Given the description of an element on the screen output the (x, y) to click on. 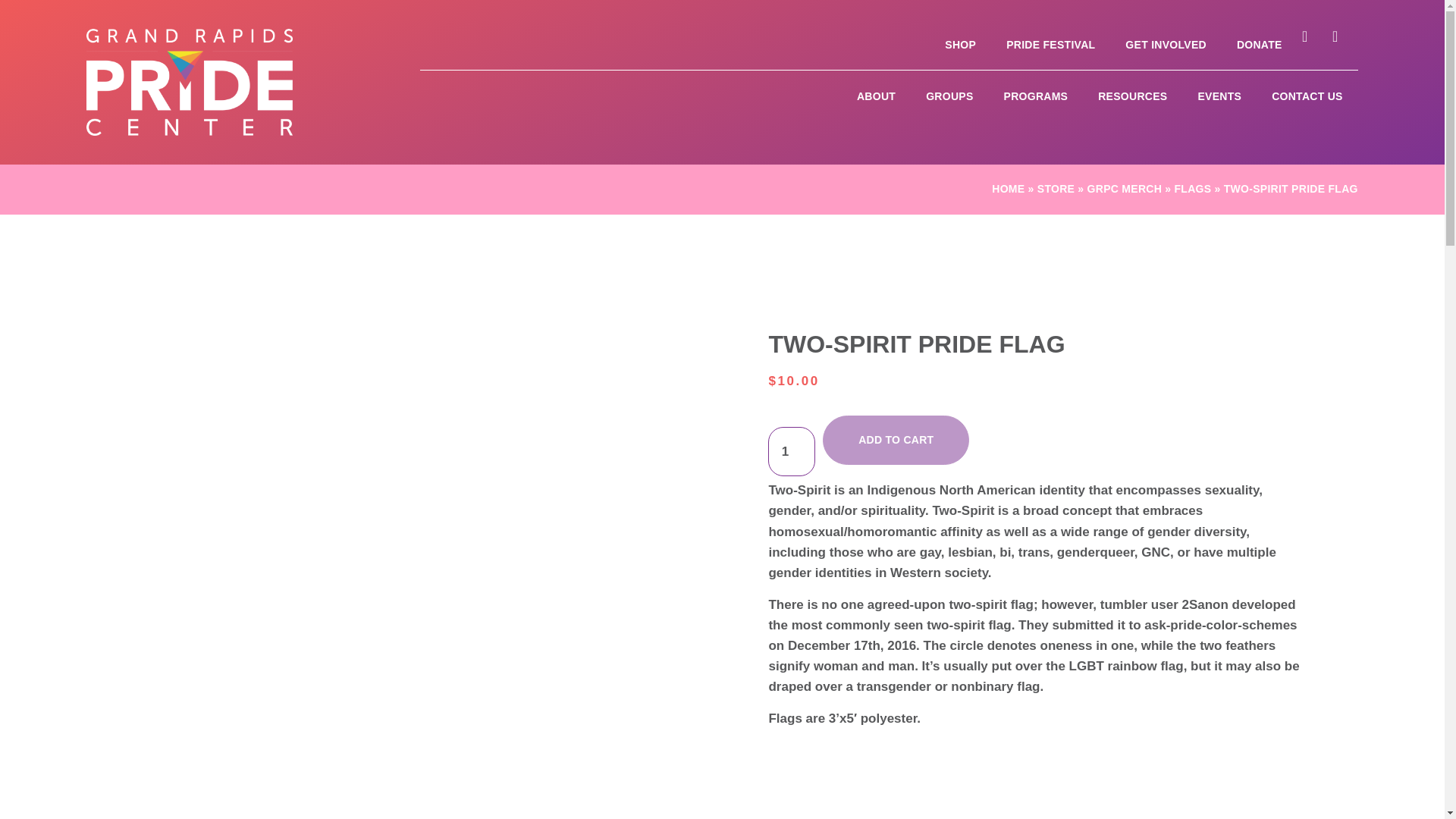
1 (791, 450)
PRIDE FESTIVAL (1050, 44)
ABOUT (876, 96)
SHOP (960, 44)
GET INVOLVED (1165, 44)
DONATE (1259, 44)
